Given the description of an element on the screen output the (x, y) to click on. 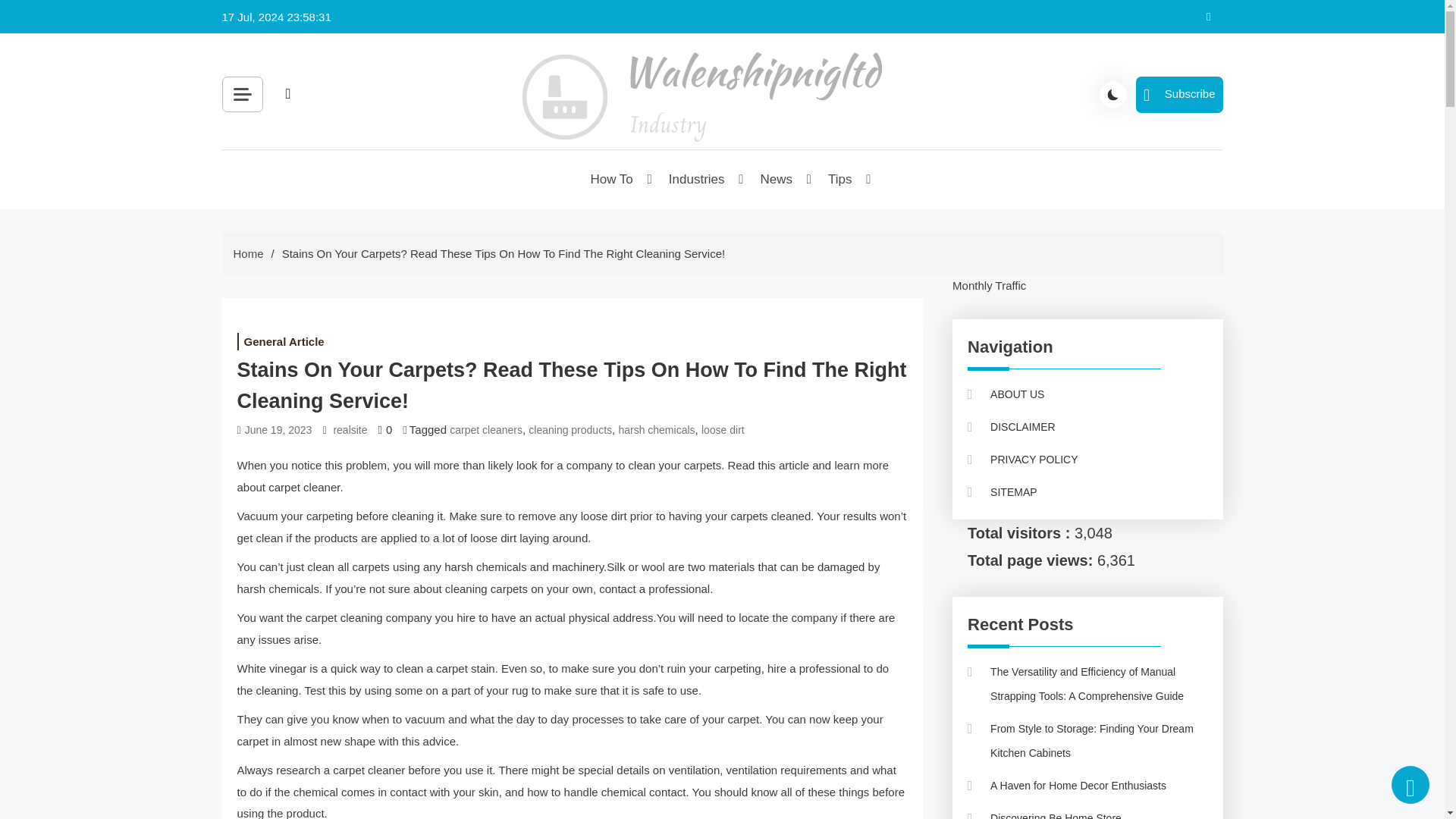
General Article (282, 341)
harsh chemicals (655, 429)
June 19, 2023 (278, 429)
realsite (349, 429)
Tips (840, 179)
Industries (698, 179)
Walenshipnigltd (608, 169)
site mode button (1112, 93)
News (778, 179)
How To (611, 179)
carpet cleaners (485, 429)
cleaning products (569, 429)
Home (247, 253)
Subscribe (1179, 94)
Search (458, 128)
